Given the description of an element on the screen output the (x, y) to click on. 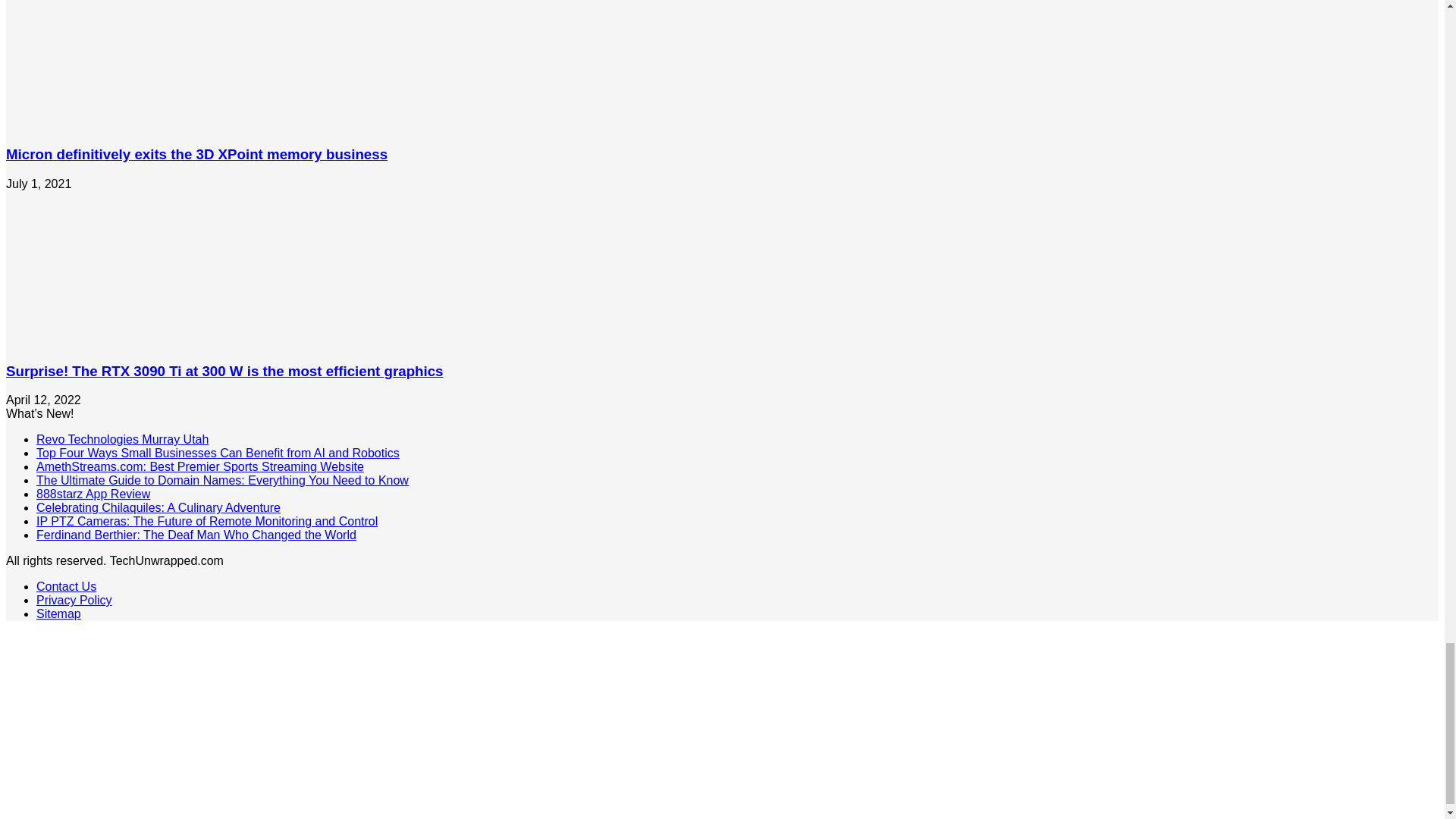
Micron definitively exits the 3D XPoint memory business (196, 154)
IP PTZ Cameras: The Future of Remote Monitoring and Control (206, 521)
888starz App Review (92, 493)
Contact Us (66, 585)
Ferdinand Berthier: The Deaf Man Who Changed the World (196, 534)
Celebrating Chilaquiles: A Culinary Adventure (158, 507)
AmethStreams.com: Best Premier Sports Streaming Website (200, 466)
Revo Technologies Murray Utah (122, 439)
Privacy Policy (74, 599)
